Given the description of an element on the screen output the (x, y) to click on. 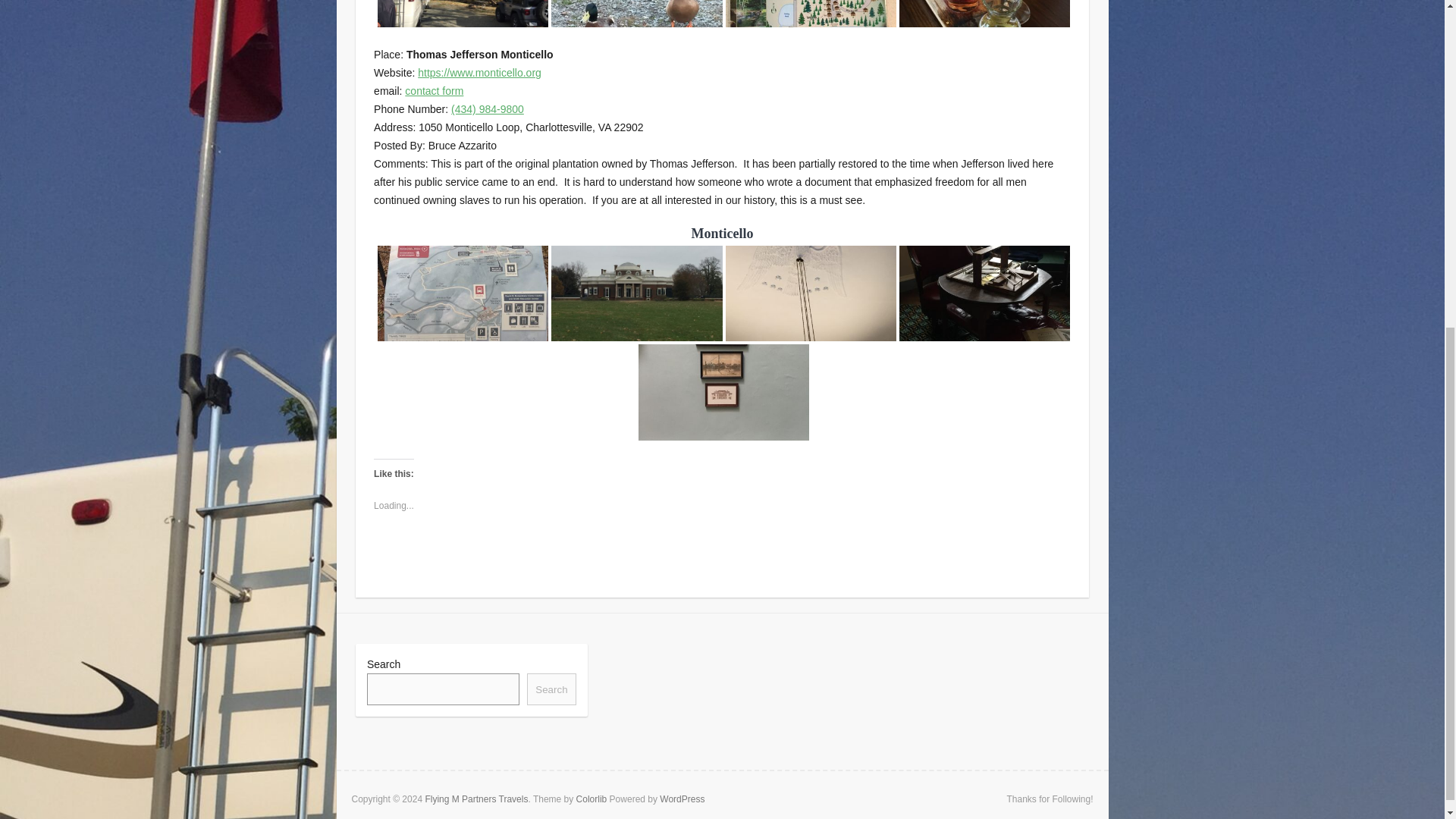
WordPress (681, 798)
Trump (984, 47)
Friends (636, 47)
Monticello (636, 293)
Flying M Partners Travels (476, 798)
Search (551, 689)
contact form (433, 91)
Like or Reblog (722, 558)
Flying M Partners Travels (476, 798)
Colorlib (591, 798)
